Given the description of an element on the screen output the (x, y) to click on. 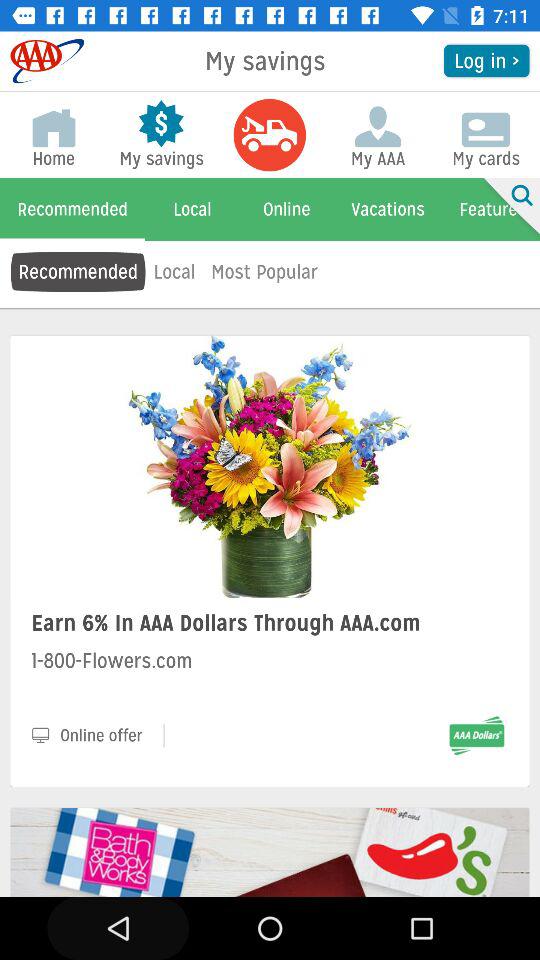
open the item to the right of local icon (264, 271)
